Given the description of an element on the screen output the (x, y) to click on. 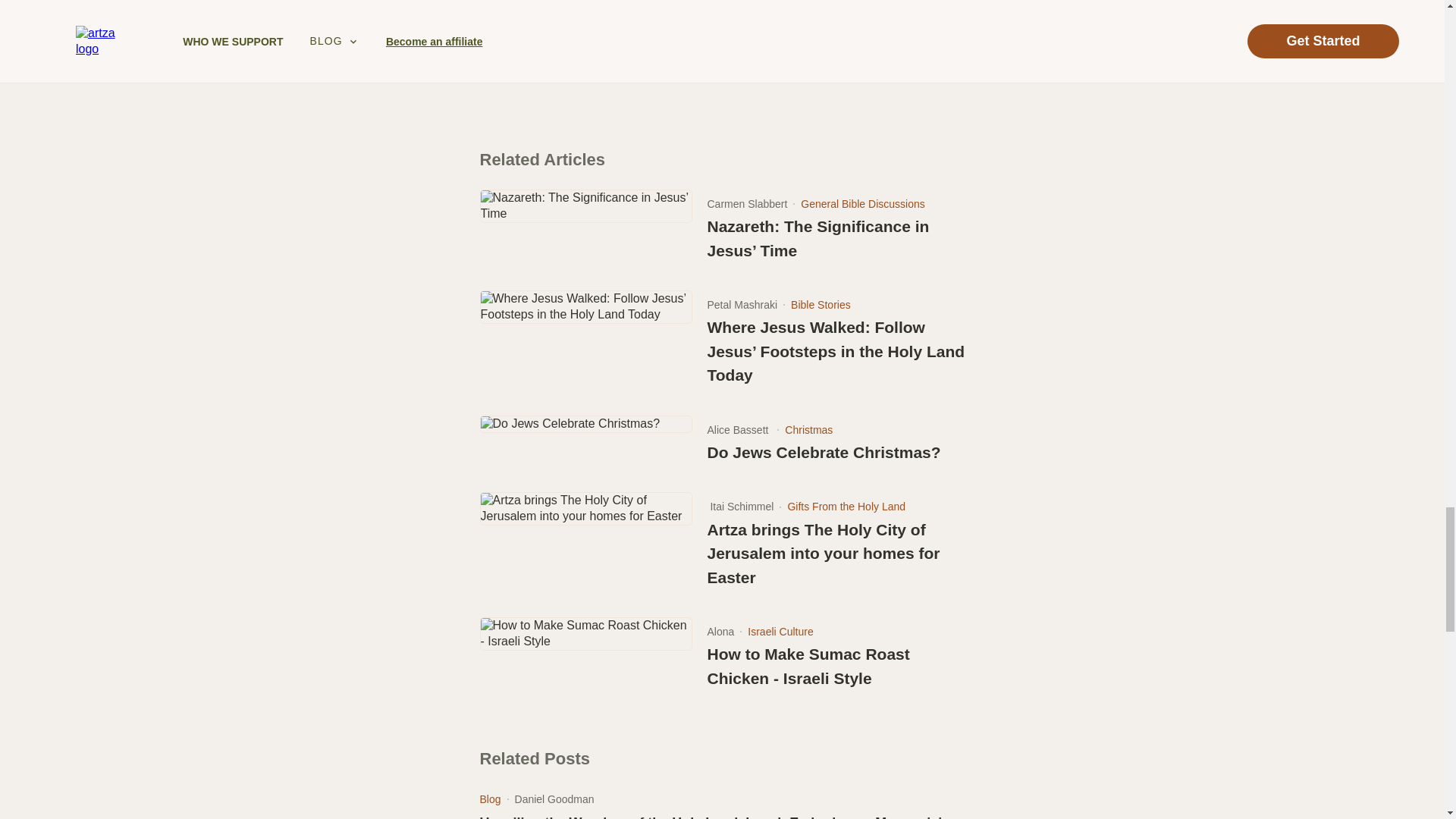
Artza (495, 72)
Blog (489, 794)
Christmas (808, 429)
General Bible Discussions (862, 203)
Gifts From the Holy Land (846, 506)
How to Make Sumac Roast Chicken - Israeli Style (837, 666)
Bible Stories (820, 305)
Israeli Culture (780, 631)
Do Jews Celebrate Christmas? (823, 452)
